Given the description of an element on the screen output the (x, y) to click on. 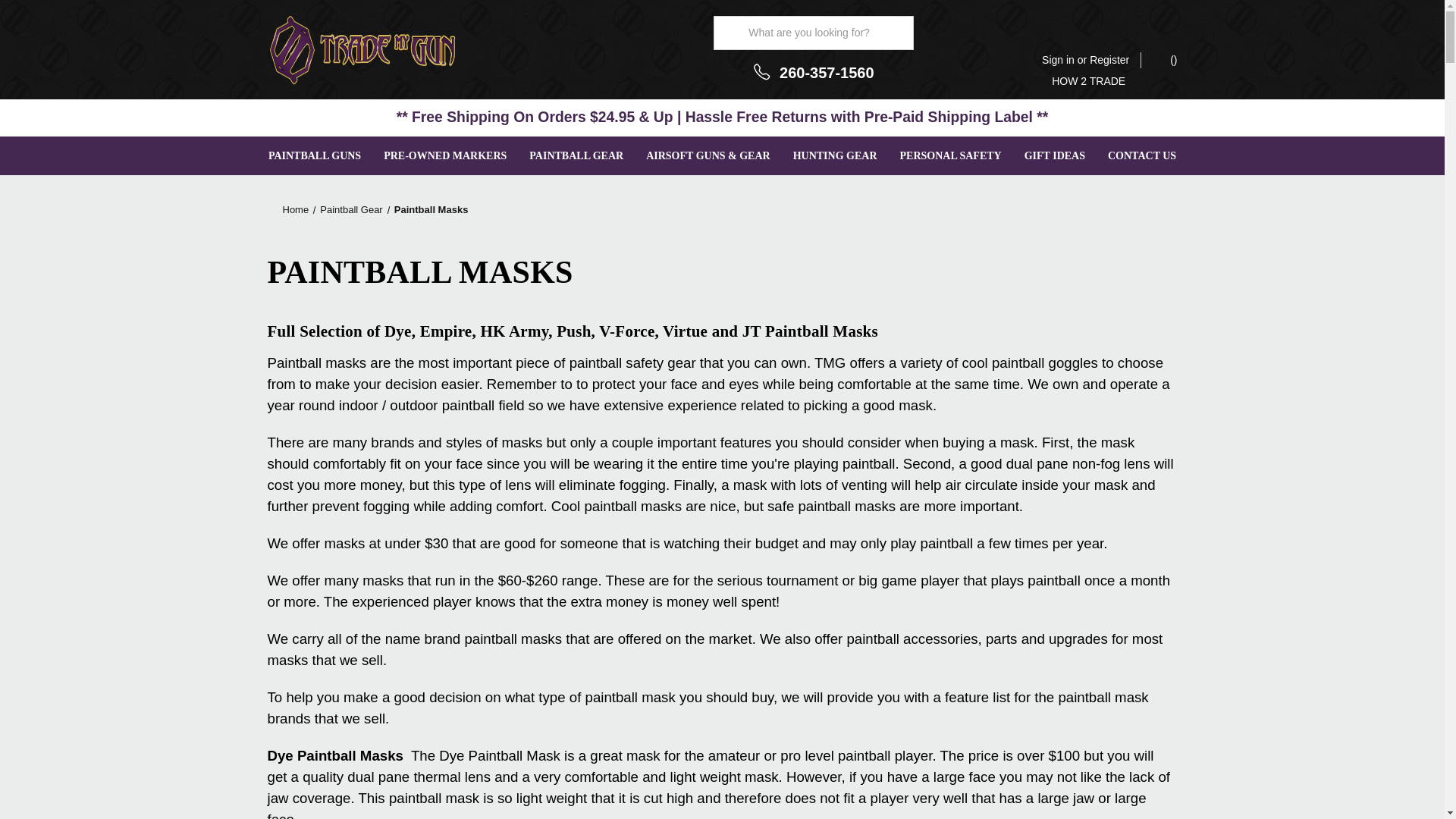
TRADEMYGUN INC (361, 49)
Sign in (1058, 59)
PAINTBALL GUNS (314, 155)
260-357-1560 (826, 71)
Register (1109, 59)
HOW 2 TRADE (1088, 80)
